Given the description of an element on the screen output the (x, y) to click on. 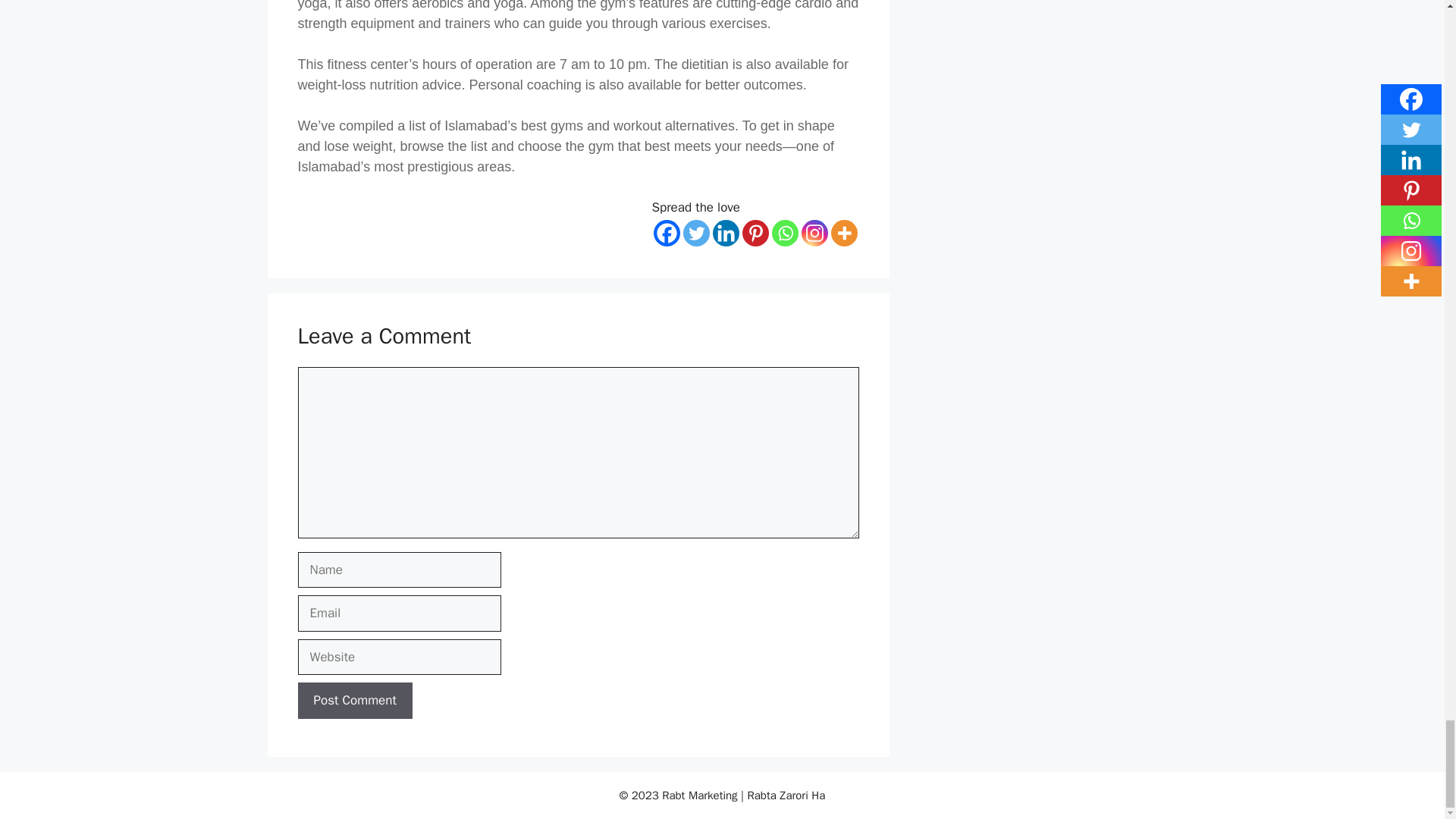
Facebook (666, 233)
Twitter (695, 233)
Pinterest (754, 233)
Linkedin (726, 233)
Post Comment (354, 700)
